Given the description of an element on the screen output the (x, y) to click on. 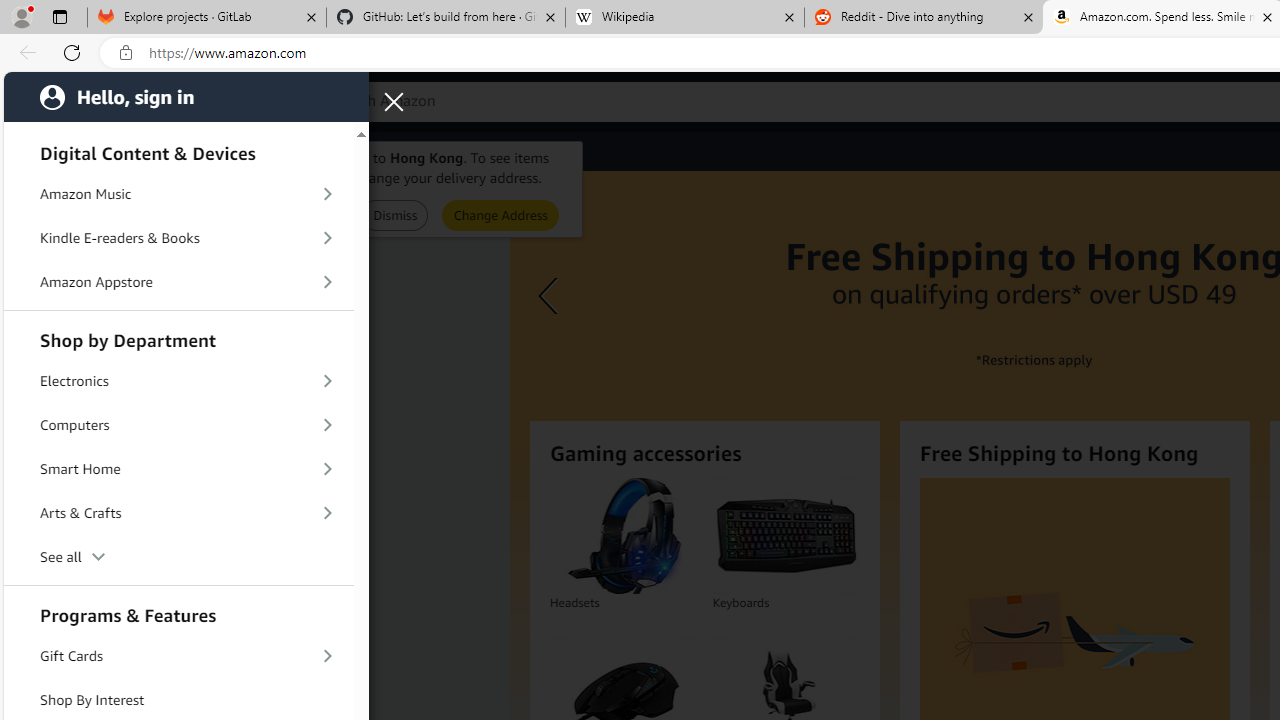
Programs & Features (178, 613)
Digital Content & Devices (178, 150)
Smart Home (178, 469)
Arts & Crafts (178, 513)
Amazon Music (178, 193)
Kindle E-readers & Books (178, 238)
Kindle E-readers & Books (178, 237)
See all (178, 557)
